Given the description of an element on the screen output the (x, y) to click on. 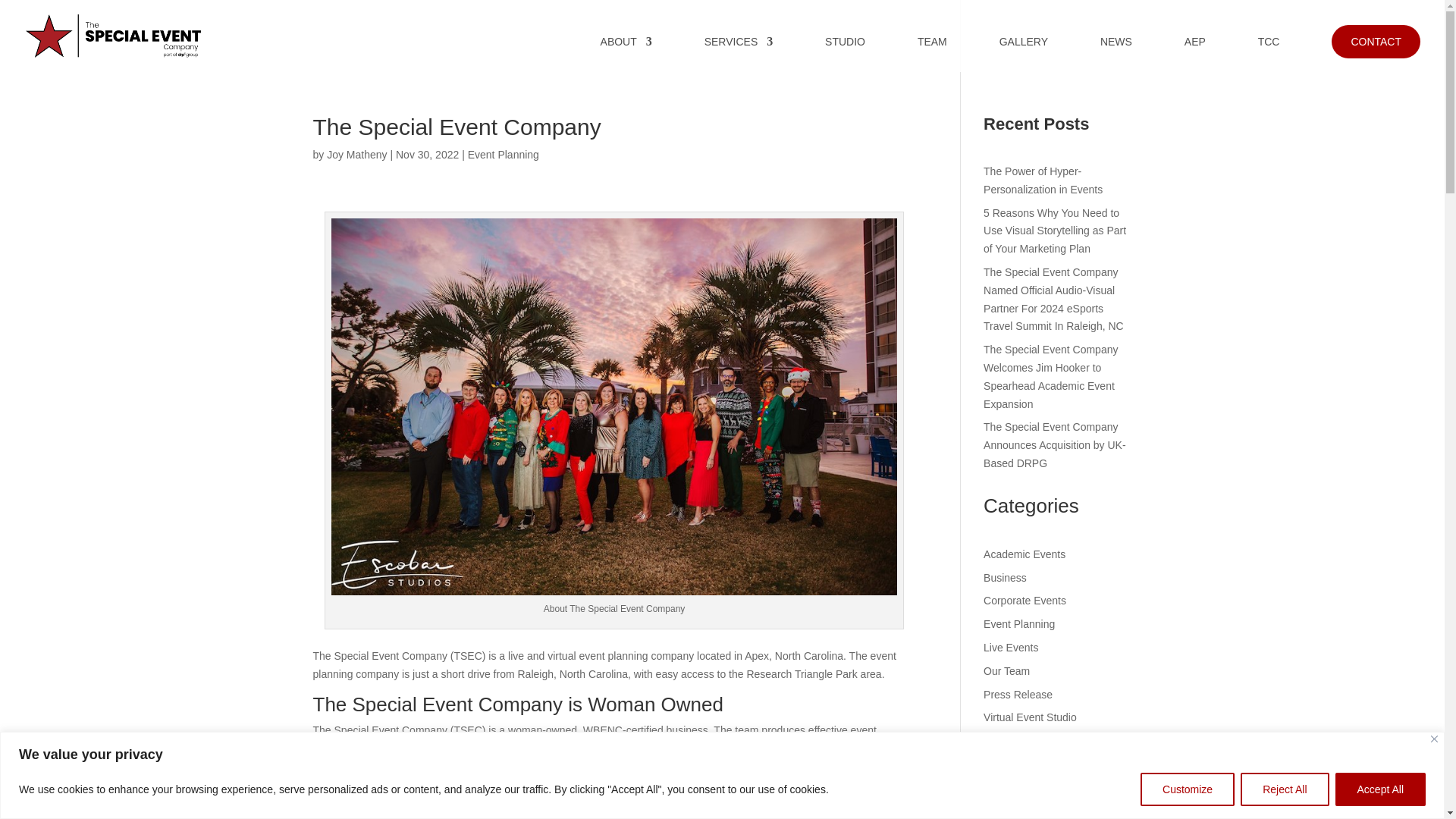
CONTACT (1376, 41)
Reject All (1283, 788)
SERVICES (738, 54)
ABOUT (625, 54)
Posts by Joy Matheny (356, 154)
Customize (1187, 788)
Accept All (1380, 788)
STUDIO (844, 54)
NEWS (1116, 54)
GALLERY (1023, 54)
